Given the description of an element on the screen output the (x, y) to click on. 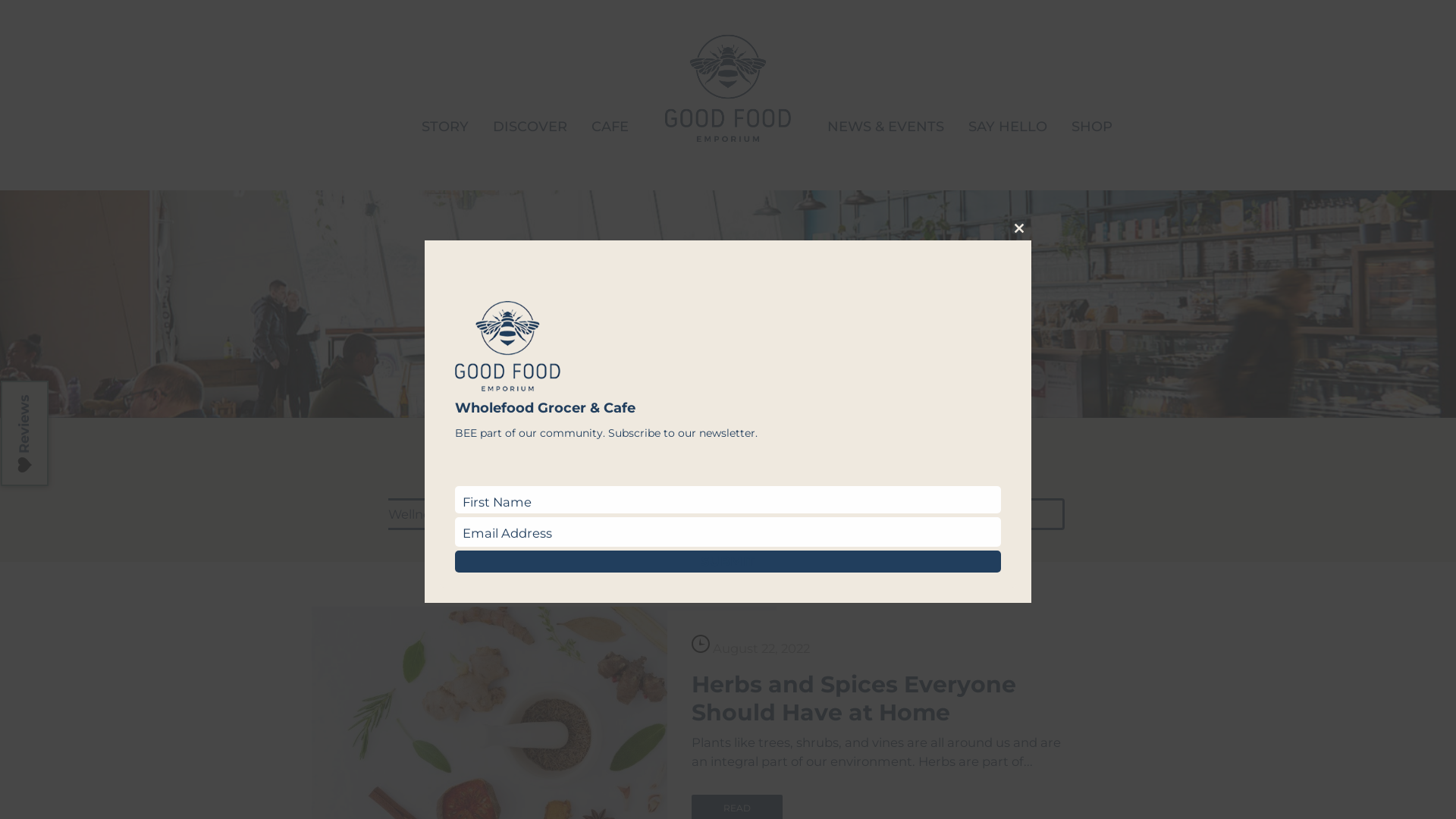
DISCOVER Element type: text (529, 126)
SAY HELLO Element type: text (1007, 126)
Close this module Element type: text (1019, 228)
SUBMIT Element type: text (728, 561)
News Element type: text (543, 514)
Brand Showcase Element type: text (667, 495)
Blog Element type: text (518, 495)
Wholefoods Element type: text (988, 514)
CAFE Element type: text (609, 126)
STORY Element type: text (444, 126)
SHOP Element type: text (1091, 126)
Discover Element type: text (829, 495)
Uncategorized Element type: text (821, 514)
Health & Wellness Element type: text (690, 505)
Reviews Element type: text (53, 404)
Recipes Element type: text (668, 514)
NEWS & EVENTS Element type: text (885, 126)
